Given the description of an element on the screen output the (x, y) to click on. 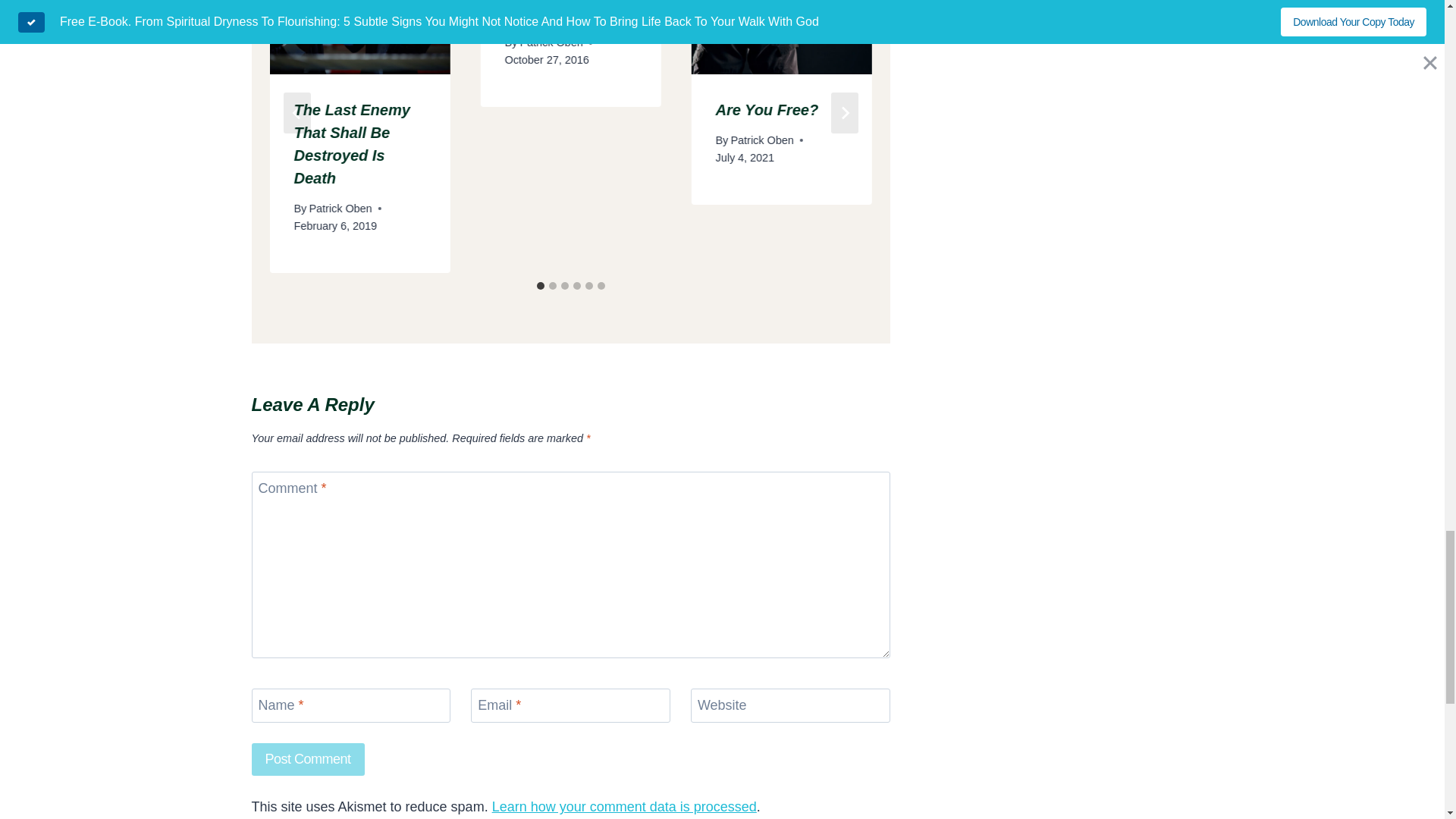
Post Comment (308, 758)
